Given the description of an element on the screen output the (x, y) to click on. 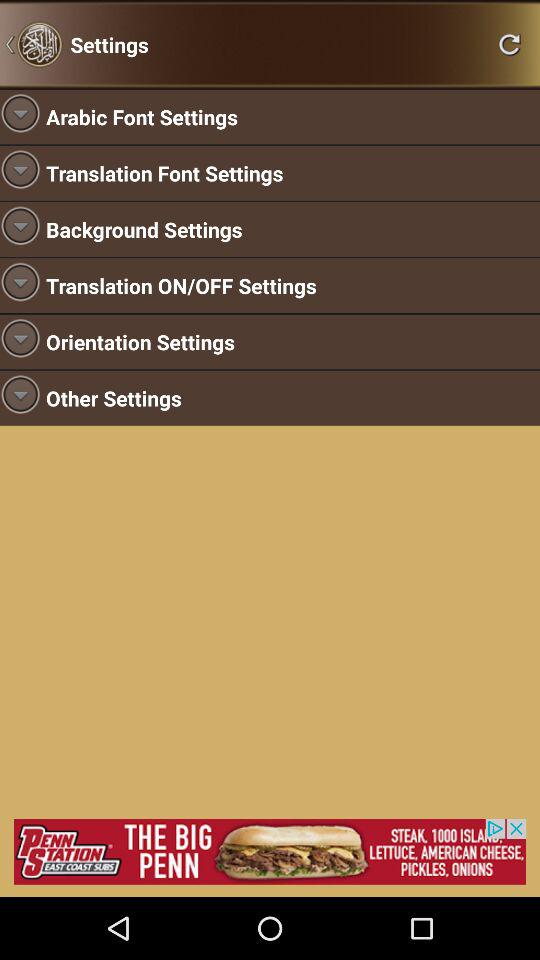
refresh (509, 44)
